Given the description of an element on the screen output the (x, y) to click on. 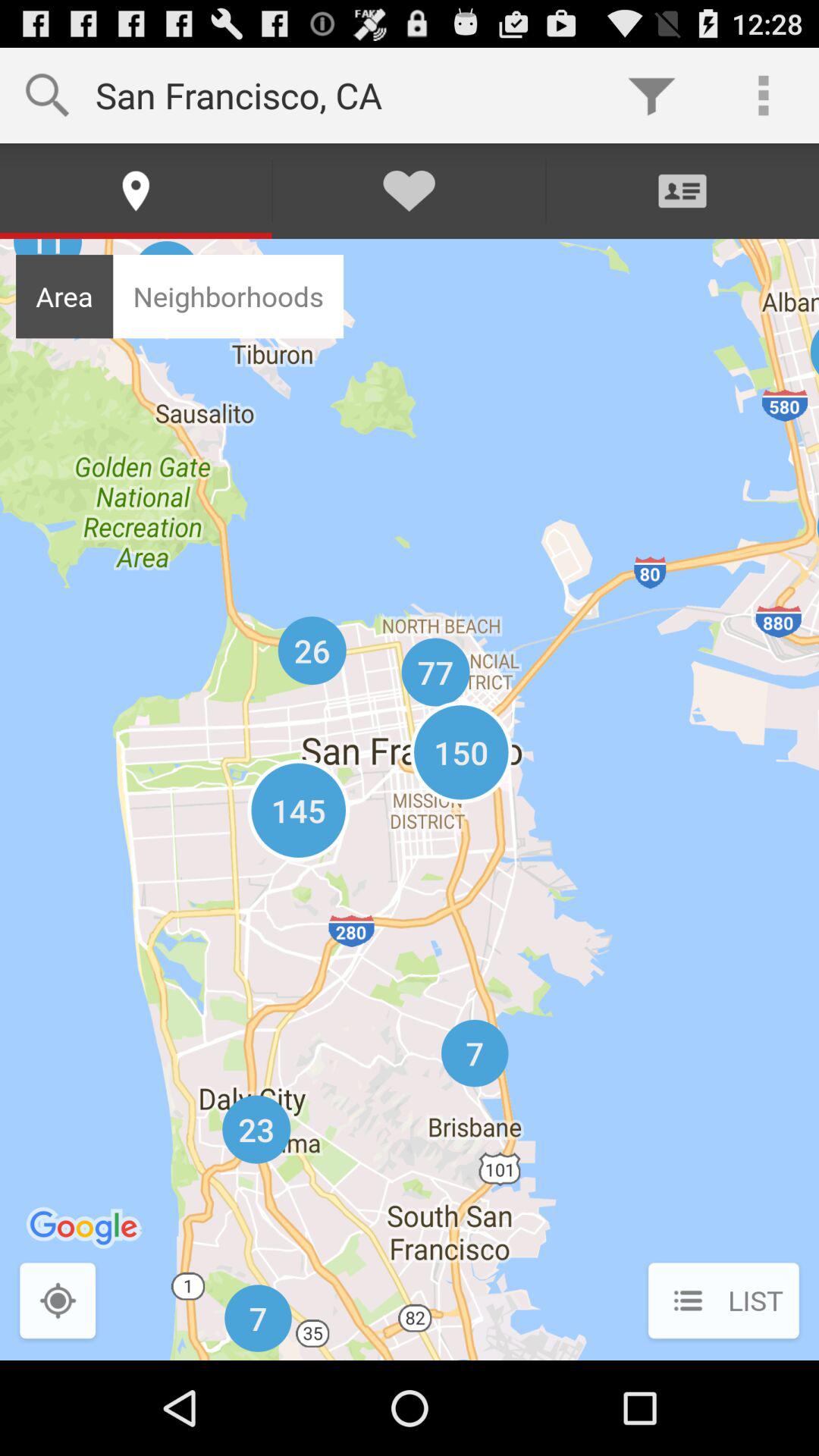
click the list icon (723, 1302)
